Given the description of an element on the screen output the (x, y) to click on. 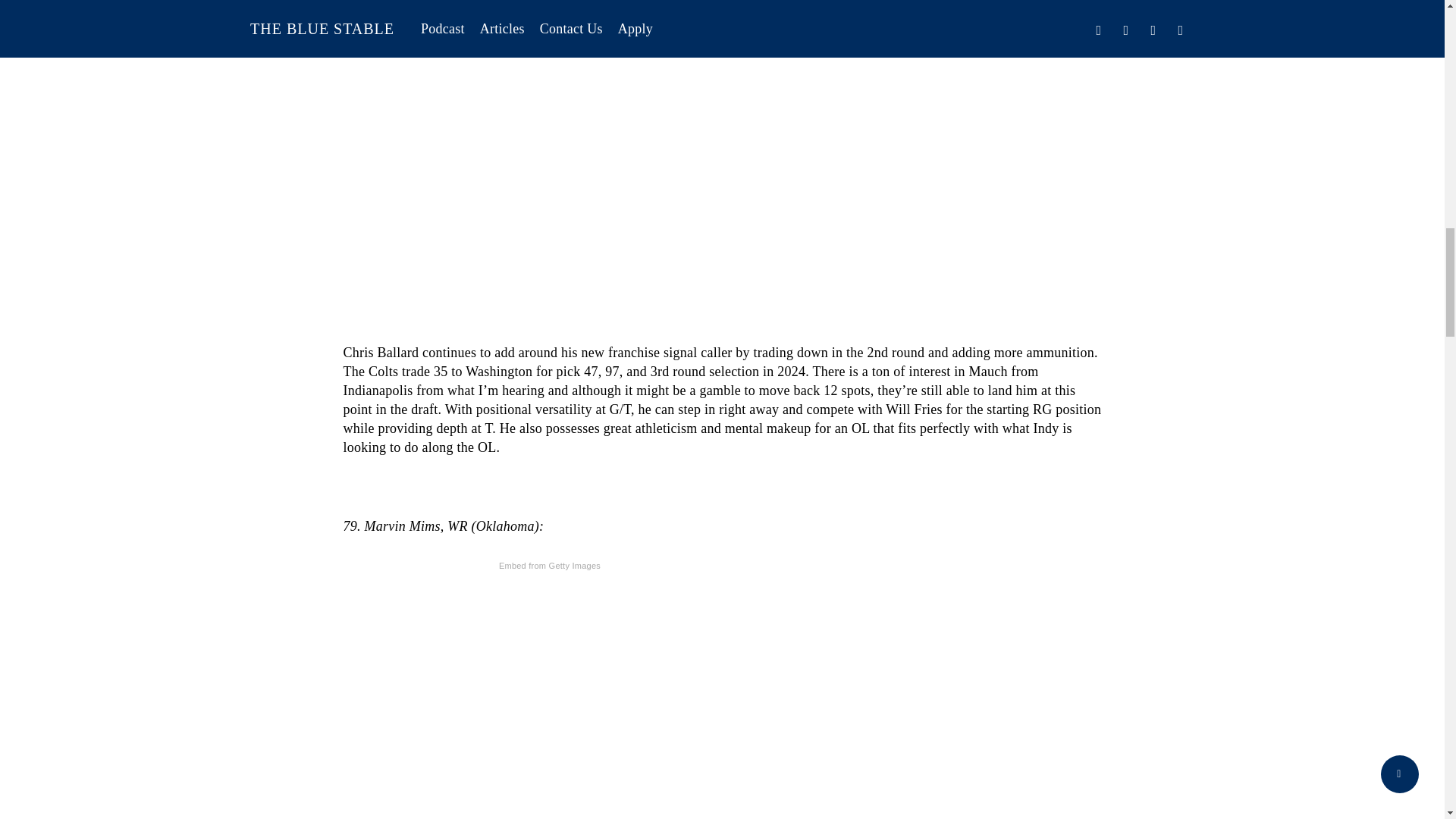
Embed from Getty Images (549, 565)
